Given the description of an element on the screen output the (x, y) to click on. 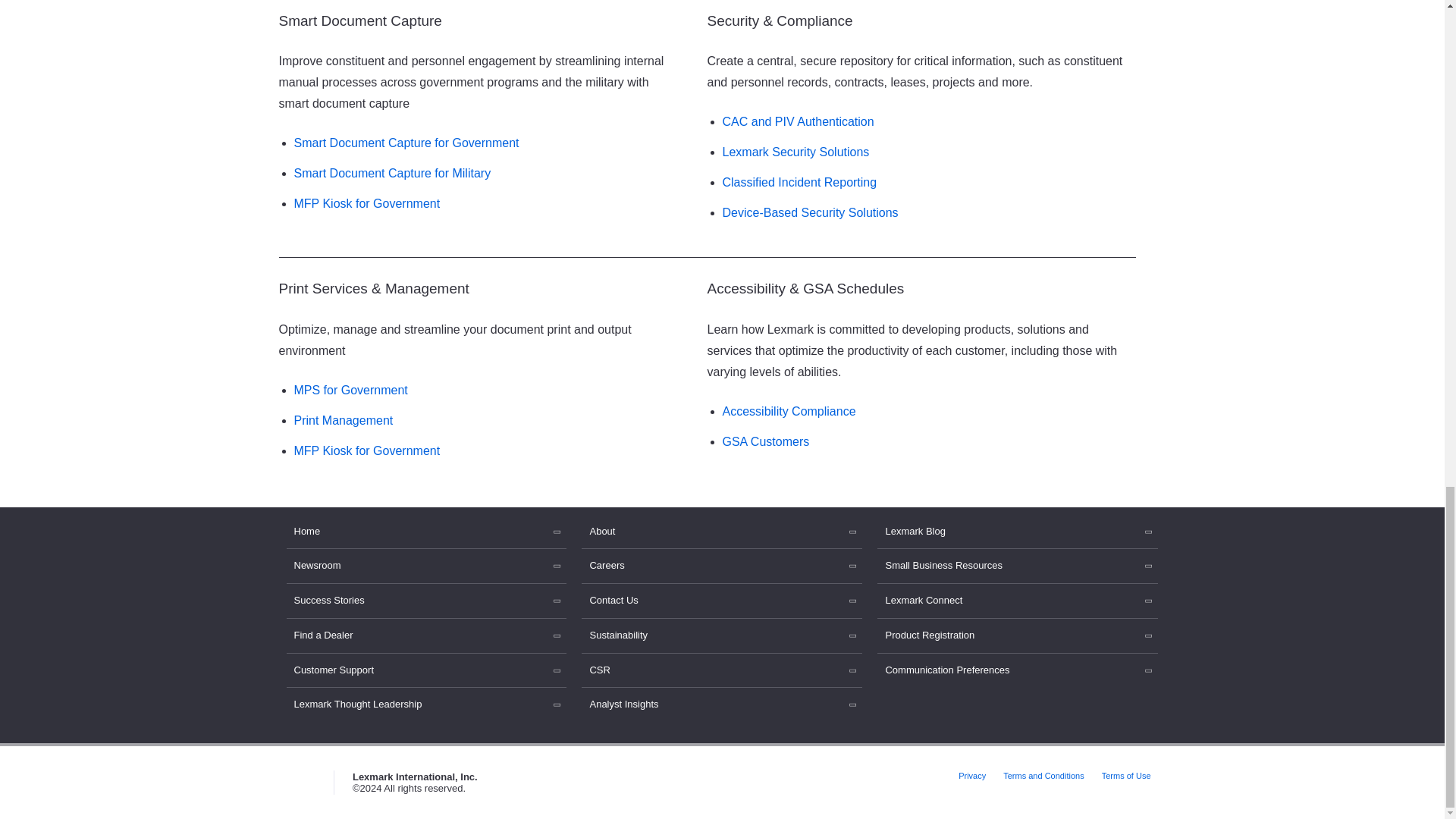
CAC and PIV Authentication (797, 121)
Smart Document Capture for Government (406, 142)
Classified Incident Reporting (799, 182)
Print Management (343, 420)
MFP Kiosk for Government (367, 450)
MPS for Government (350, 390)
Device-Based Security Solutions (810, 212)
Lexmark Security Solutions (795, 151)
MFP Kiosk for Government (367, 203)
Smart Document Capture for Military (393, 173)
